Given the description of an element on the screen output the (x, y) to click on. 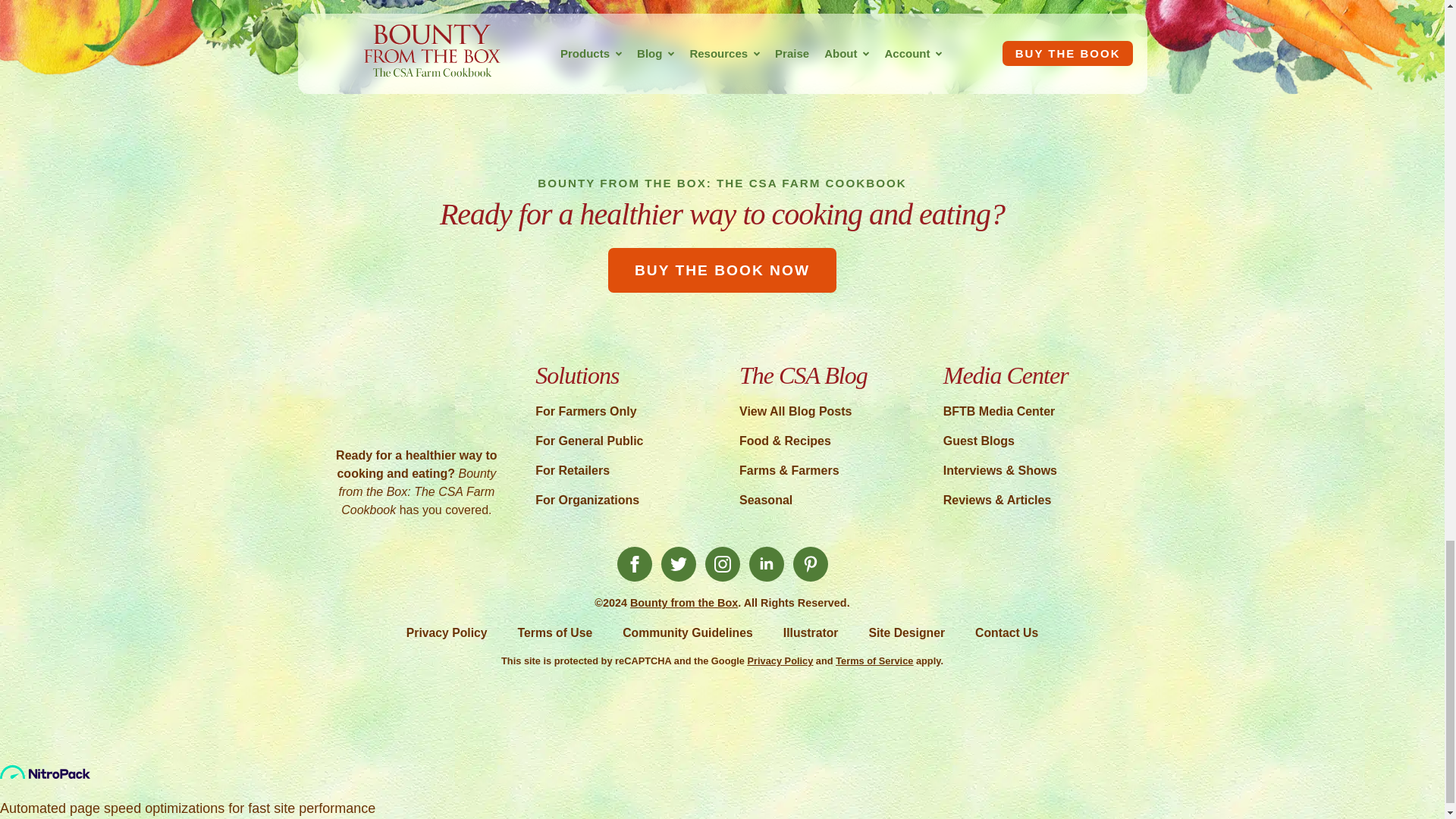
Post Comment (409, 13)
